Given the description of an element on the screen output the (x, y) to click on. 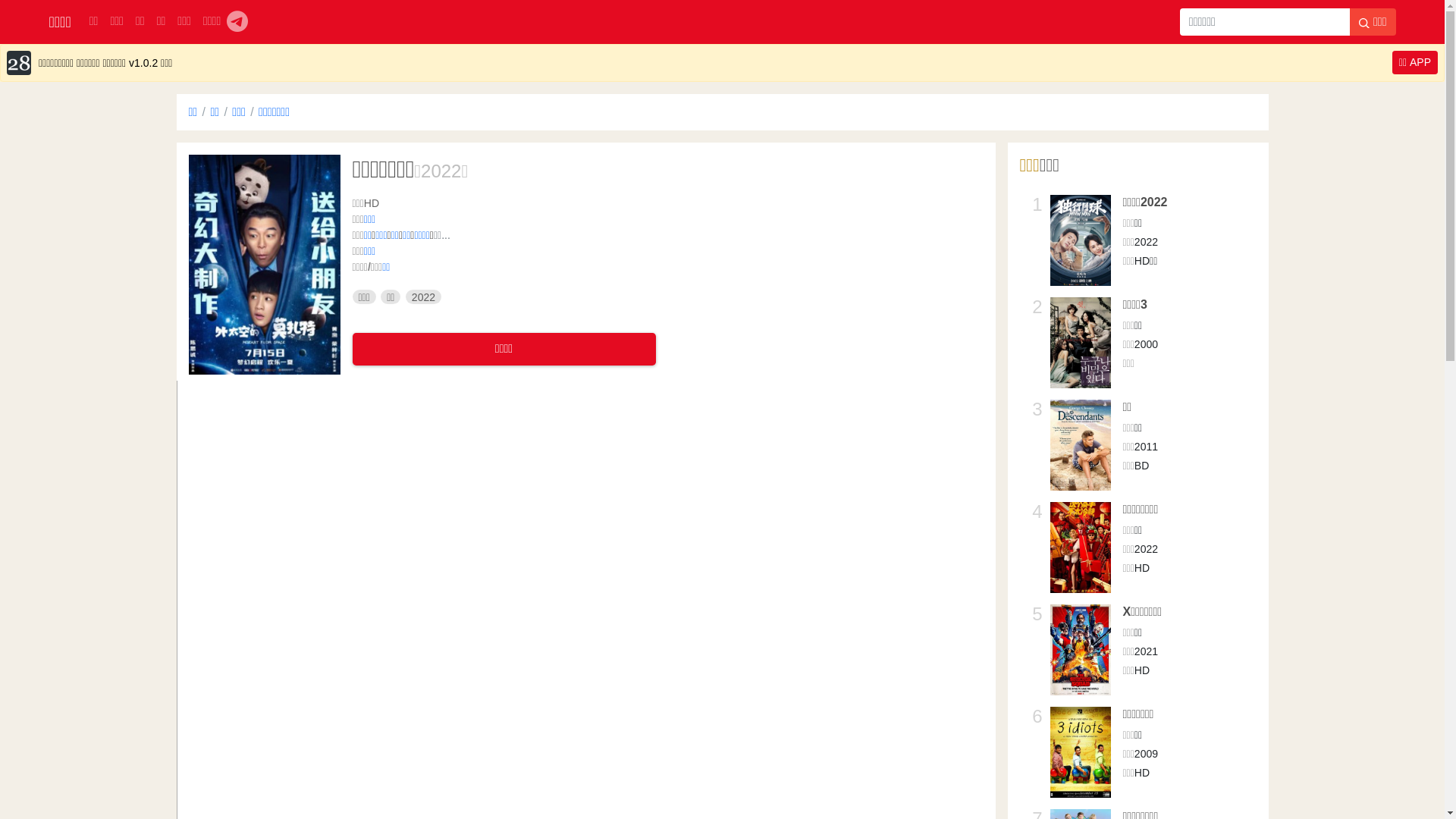
2022 Element type: text (440, 170)
2022 Element type: text (423, 296)
